Given the description of an element on the screen output the (x, y) to click on. 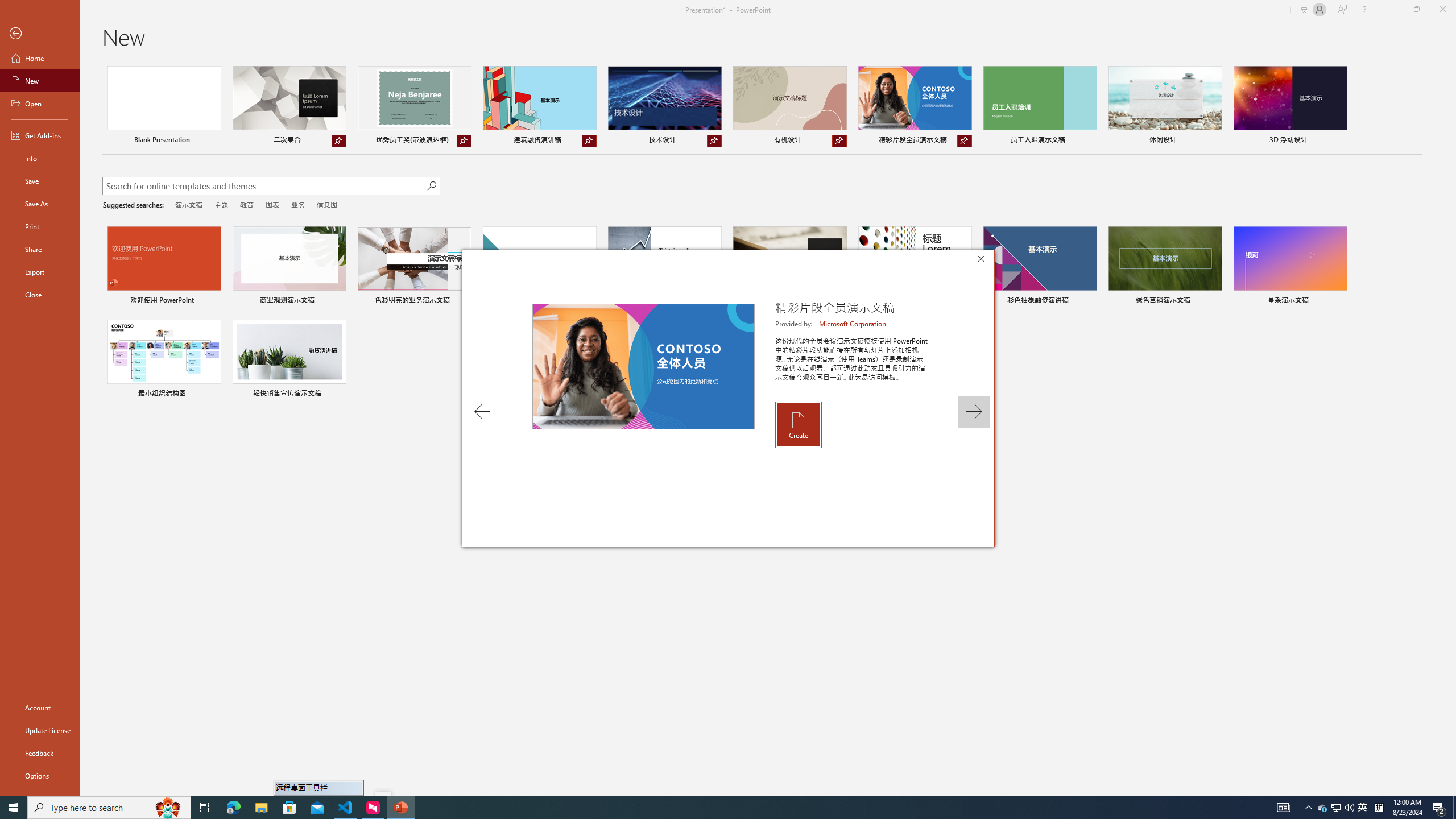
Blank Presentation (164, 106)
Unpin from list (964, 141)
Print (40, 225)
Pin to list (338, 394)
Previous Template (481, 411)
